Given the description of an element on the screen output the (x, y) to click on. 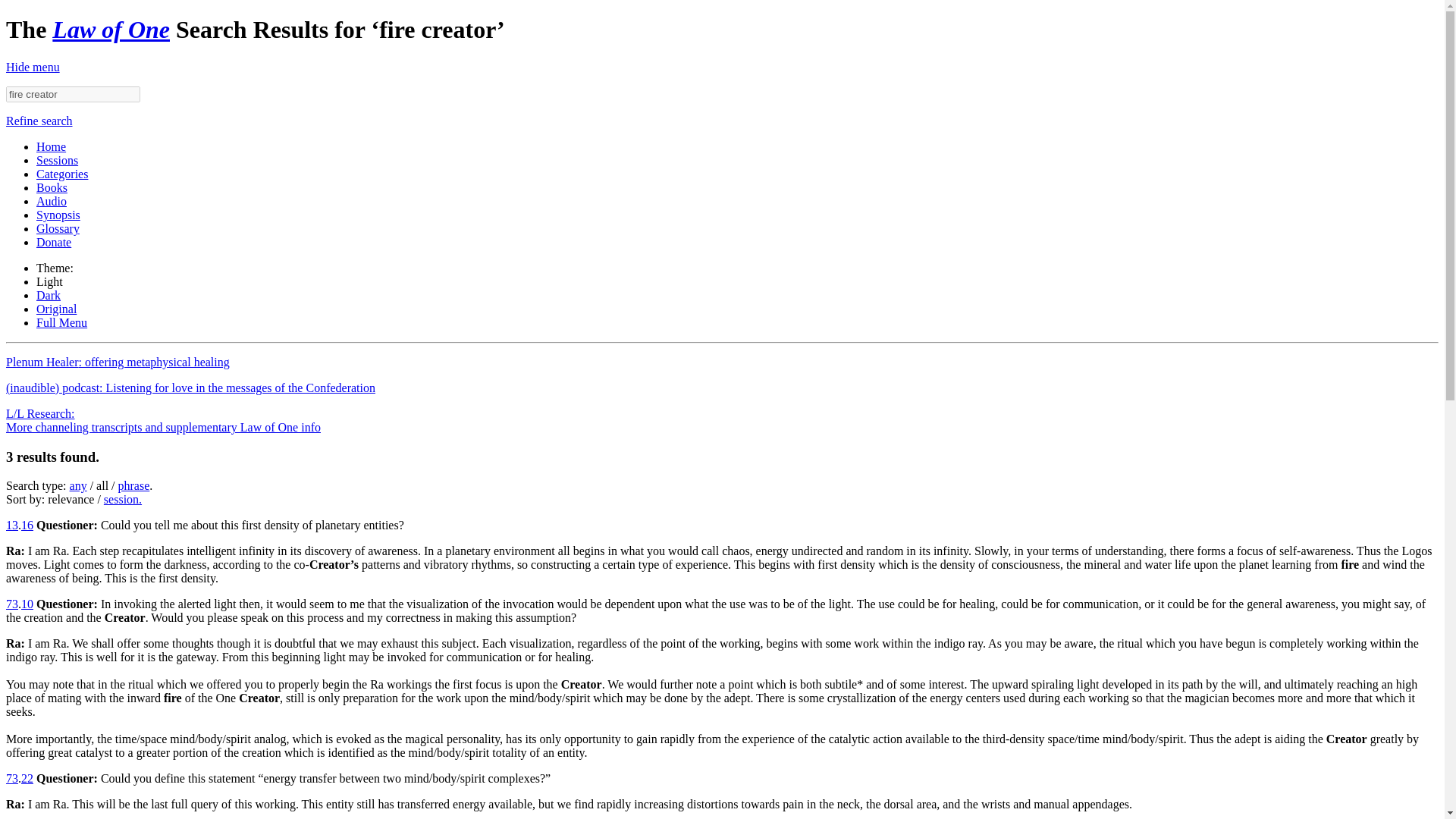
Glossary (58, 228)
fire creator (72, 94)
Books (51, 187)
session. (122, 499)
Audio (51, 201)
Plenum Healer: offering metaphysical healing (117, 361)
phrase (133, 485)
Full Menu (61, 322)
22 (27, 778)
Sessions (57, 160)
Dark (48, 295)
Home (50, 146)
Categories (61, 173)
73 (11, 603)
Law of One (111, 29)
